Given the description of an element on the screen output the (x, y) to click on. 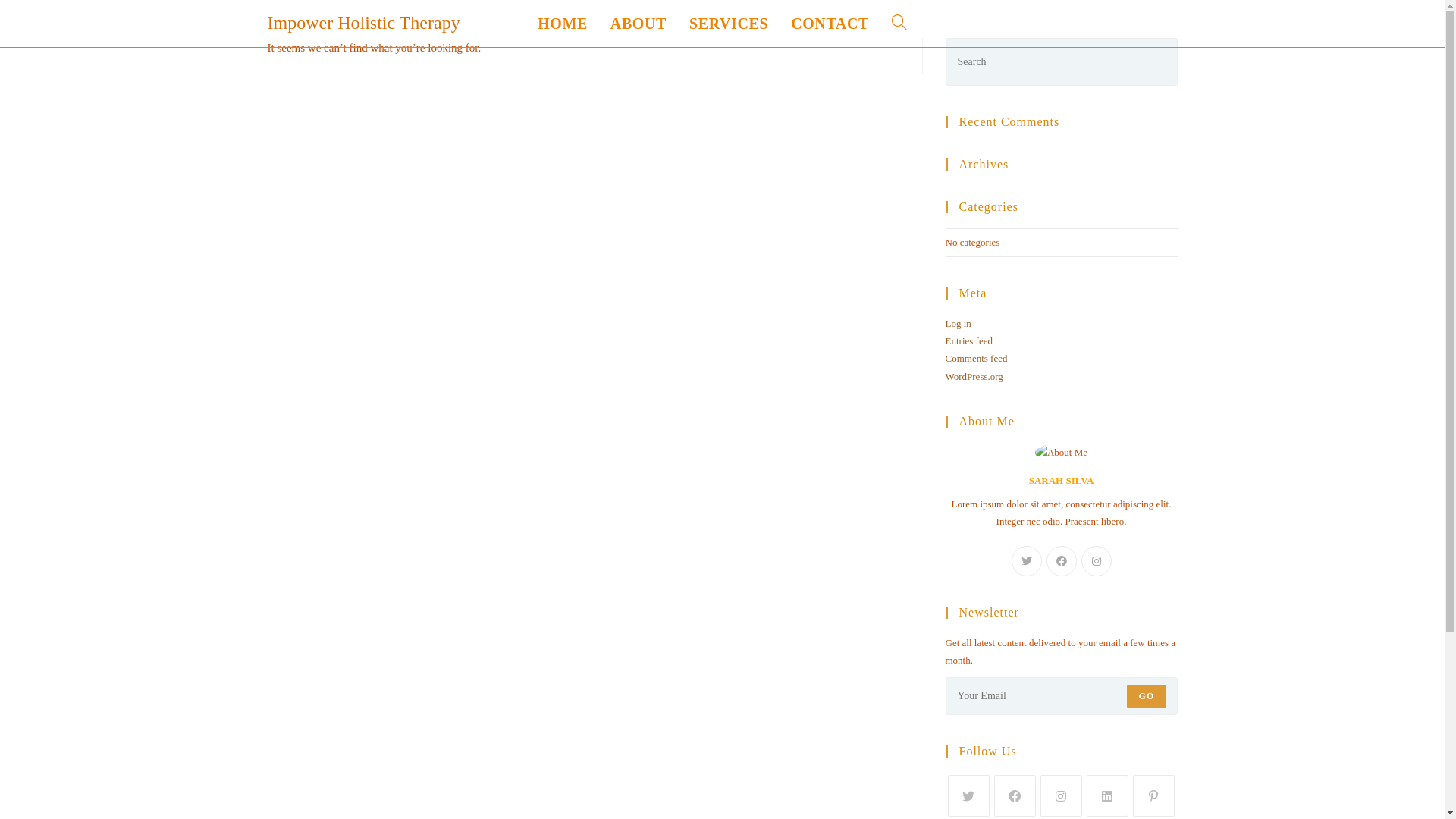
Impower Holistic Therapy Element type: text (362, 22)
Site Info Element type: text (1024, 724)
Comments feed Element type: text (975, 358)
HOME Element type: text (562, 23)
Accessibility Element type: text (1024, 683)
Navneet Jassal Element type: text (418, 683)
ABOUT Element type: text (638, 23)
SERVICES Element type: text (728, 23)
CONTACT Element type: text (829, 23)
Log in Element type: text (957, 323)
Privacy Policy Element type: text (1024, 704)
Entries feed Element type: text (967, 340)
TOGGLE WEBSITE SEARCH Element type: text (899, 23)
WordPress.org Element type: text (973, 376)
GO Element type: text (1145, 695)
